Given the description of an element on the screen output the (x, y) to click on. 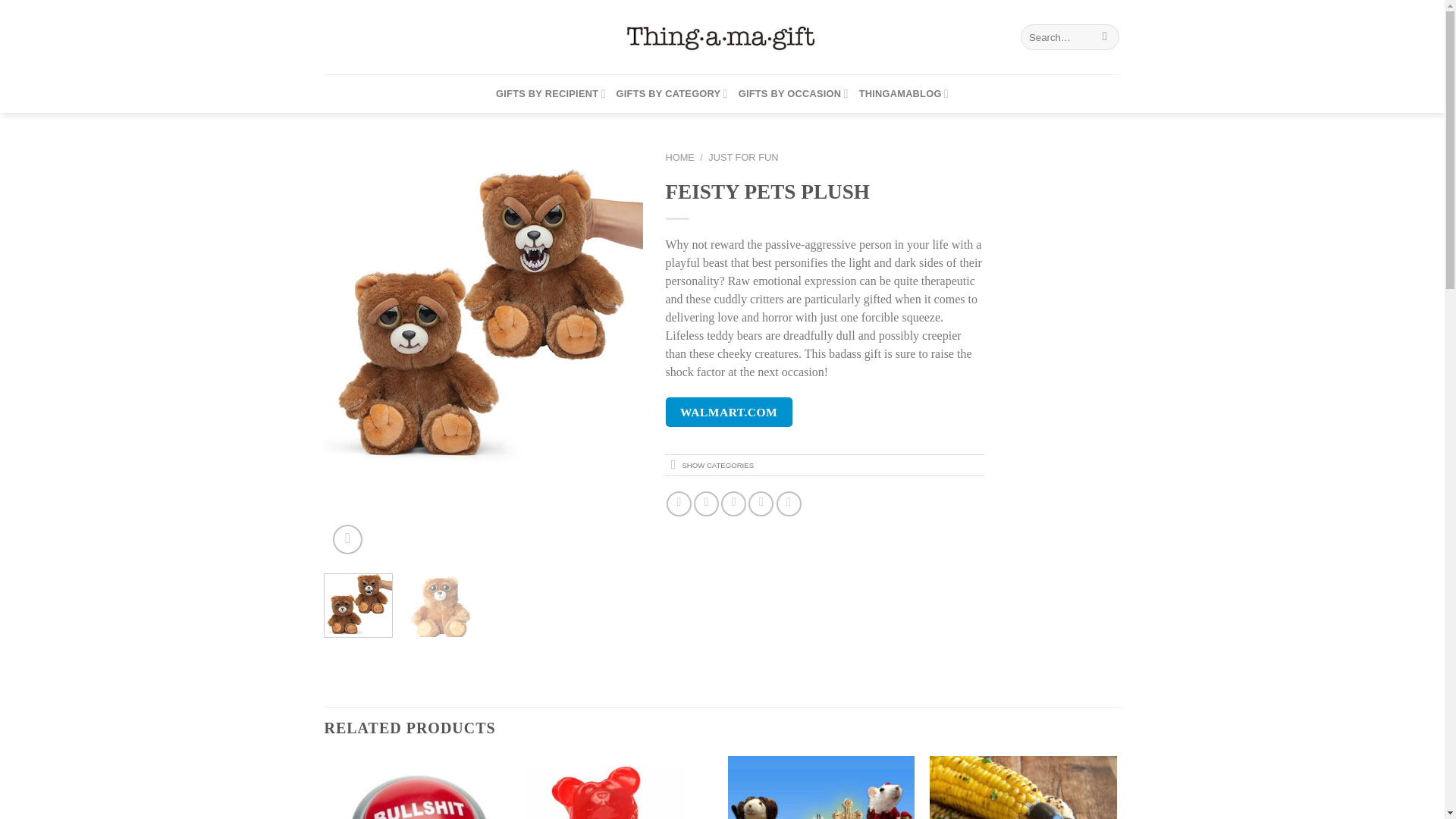
GIFTS BY RECIPIENT (550, 93)
GIFTS BY CATEGORY (671, 93)
This Year's Best Gift Ideas (721, 36)
Share on Tumblr (789, 503)
Email to a Friend (732, 503)
Share on Facebook (678, 503)
Zoom (347, 539)
Share on Twitter (706, 503)
Search (1105, 36)
Pin on Pinterest (760, 503)
Feisty Pets Gift Ideas 4 (483, 310)
